Given the description of an element on the screen output the (x, y) to click on. 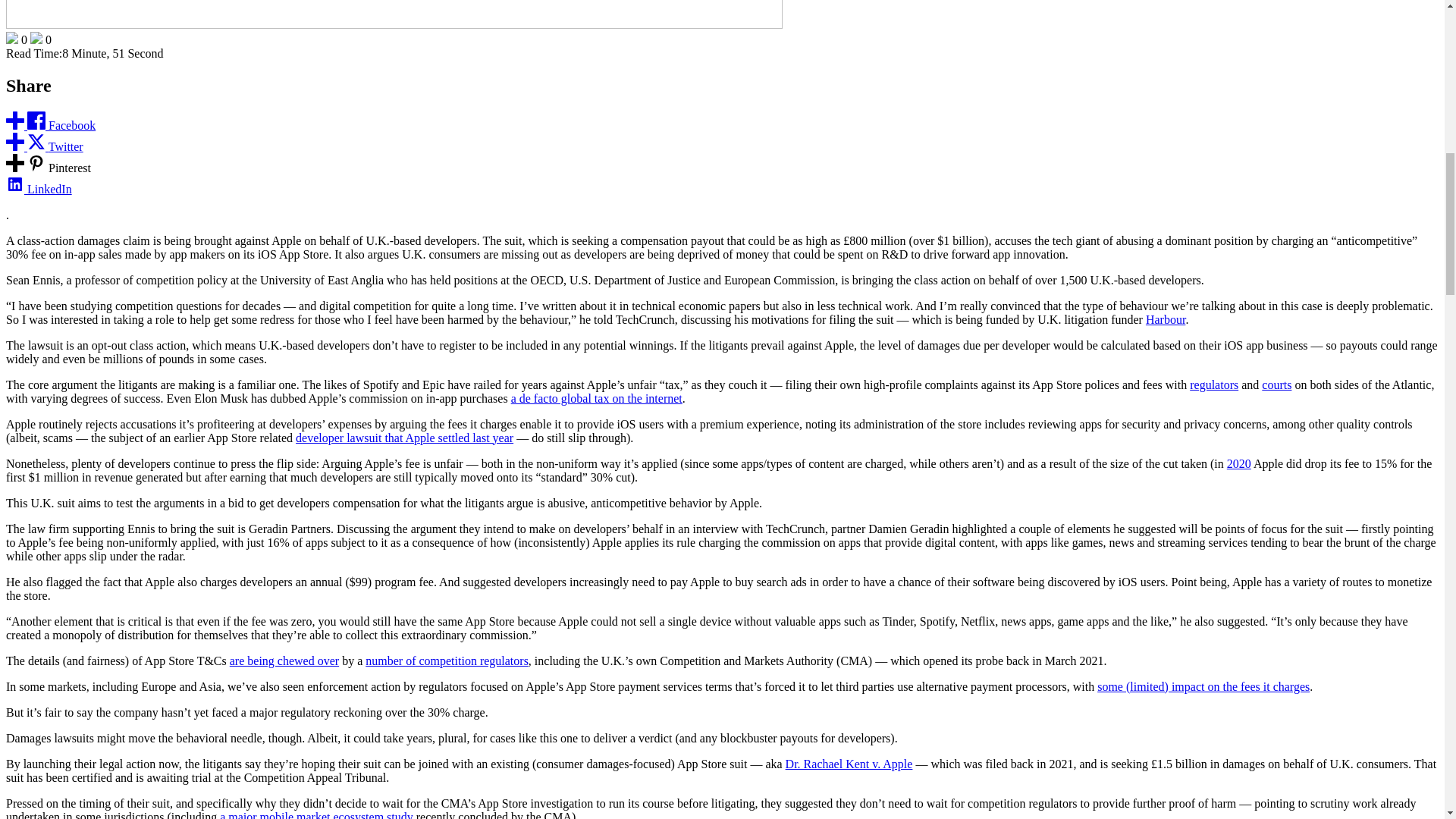
regulators (1214, 384)
courts (1276, 384)
Dr. Rachael Kent v. Apple (849, 763)
a major mobile market ecosystem study (316, 814)
Harbour (1165, 318)
are being chewed over (284, 660)
Pinterest (47, 167)
a de facto global tax on the internet (596, 398)
LinkedIn (38, 188)
2020 (1238, 463)
number of competition regulators (446, 660)
Facebook (50, 124)
Twitter (43, 146)
developer lawsuit that Apple settled last year (404, 437)
